Given the description of an element on the screen output the (x, y) to click on. 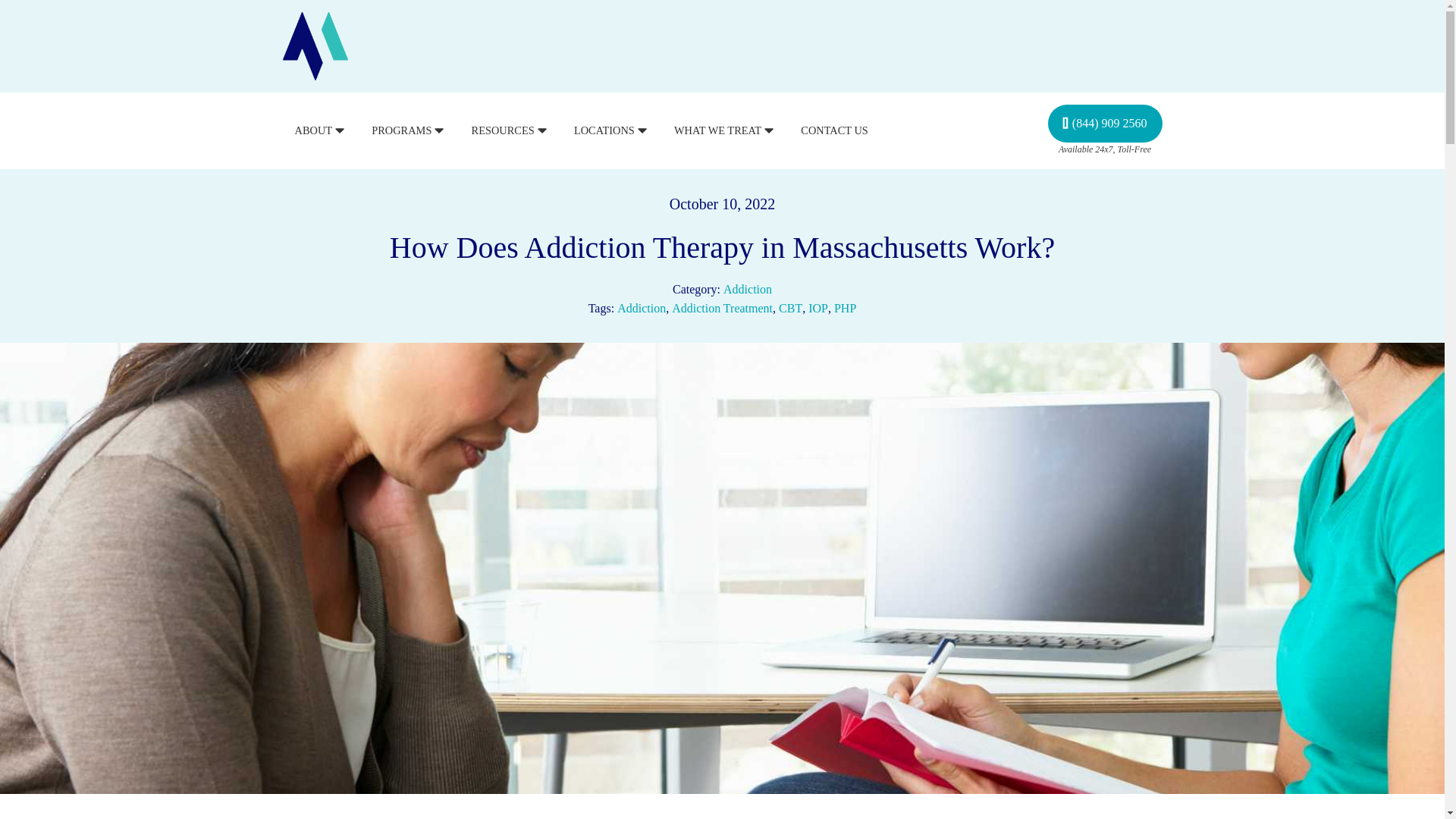
LOCATIONS (611, 130)
ABOUT (320, 130)
PROGRAMS (408, 130)
WHAT WE TREAT (725, 130)
RESOURCES (510, 130)
